Given the description of an element on the screen output the (x, y) to click on. 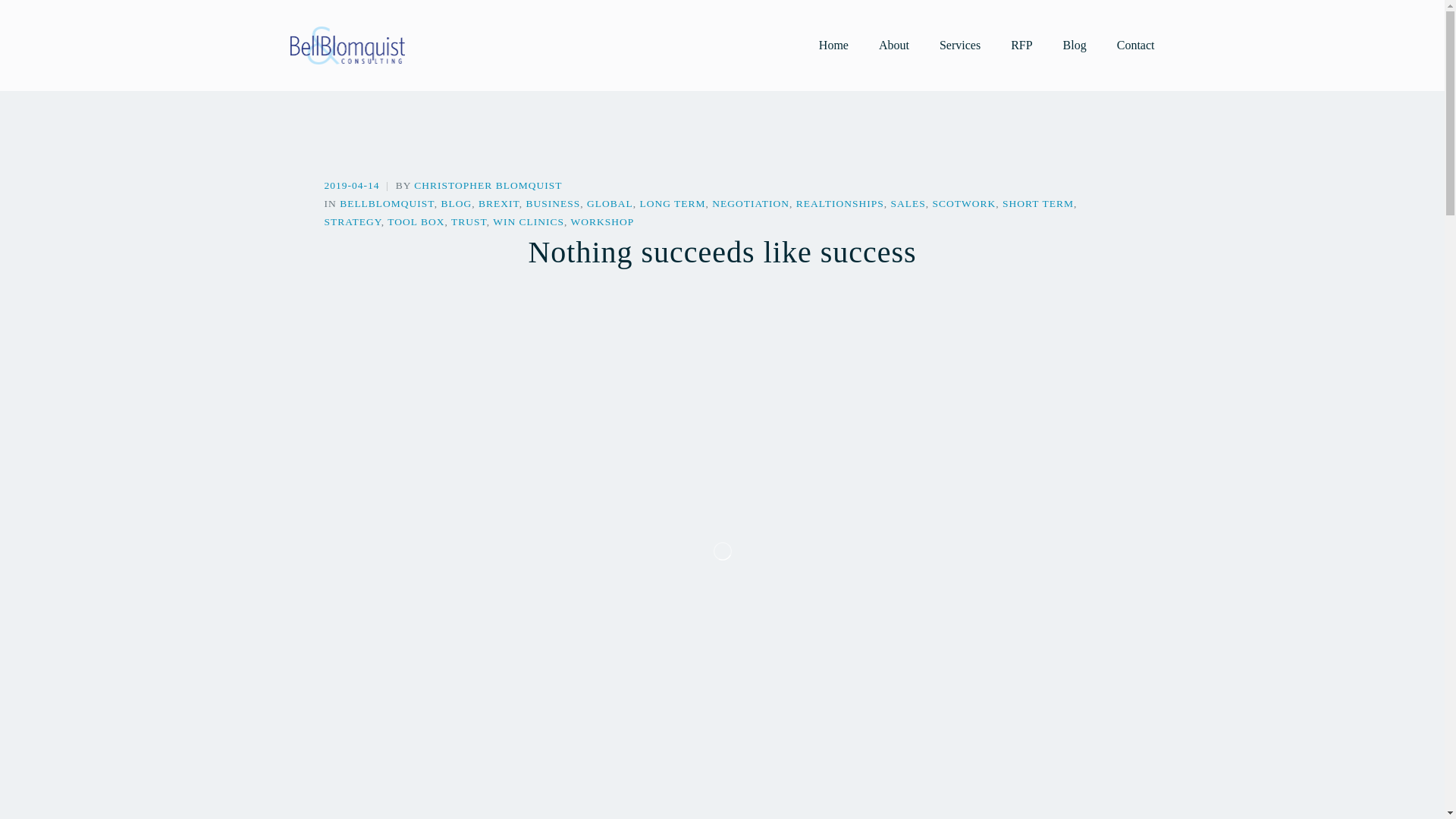
2019-04-14 (353, 184)
LONG TERM (671, 203)
BLOG (456, 203)
BELLBLOMQUIST (386, 203)
CHRISTOPHER BLOMQUIST (487, 184)
GLOBAL (609, 203)
Services (959, 45)
Home (833, 45)
Contact (1135, 45)
Blog (1074, 45)
